Given the description of an element on the screen output the (x, y) to click on. 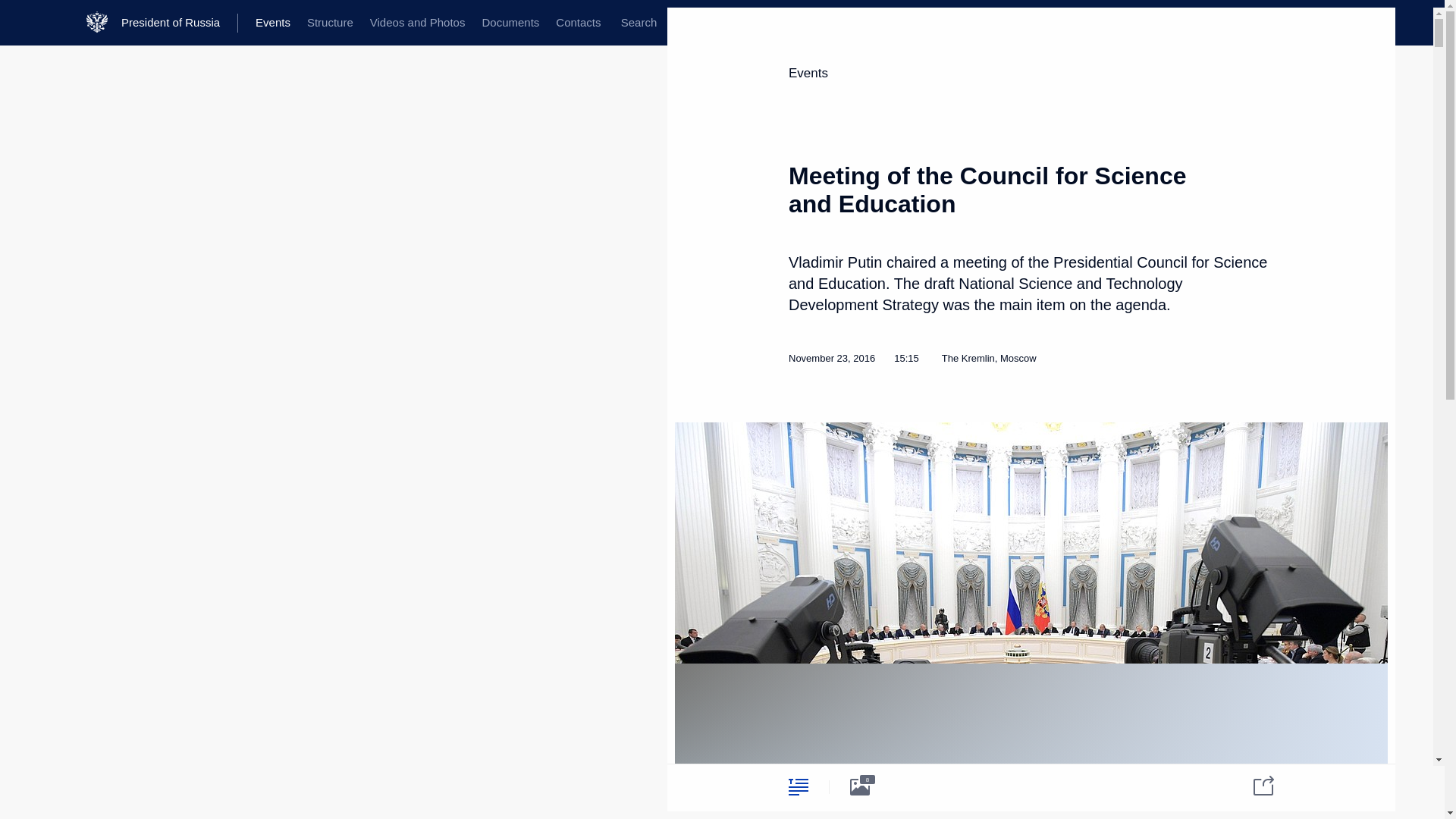
Search (638, 22)
Photo (859, 786)
Events (808, 73)
President of Russia (179, 22)
Videos and Photos (417, 22)
Contacts (577, 22)
Portal Menu (24, 22)
Text (798, 786)
Events (272, 22)
